Given the description of an element on the screen output the (x, y) to click on. 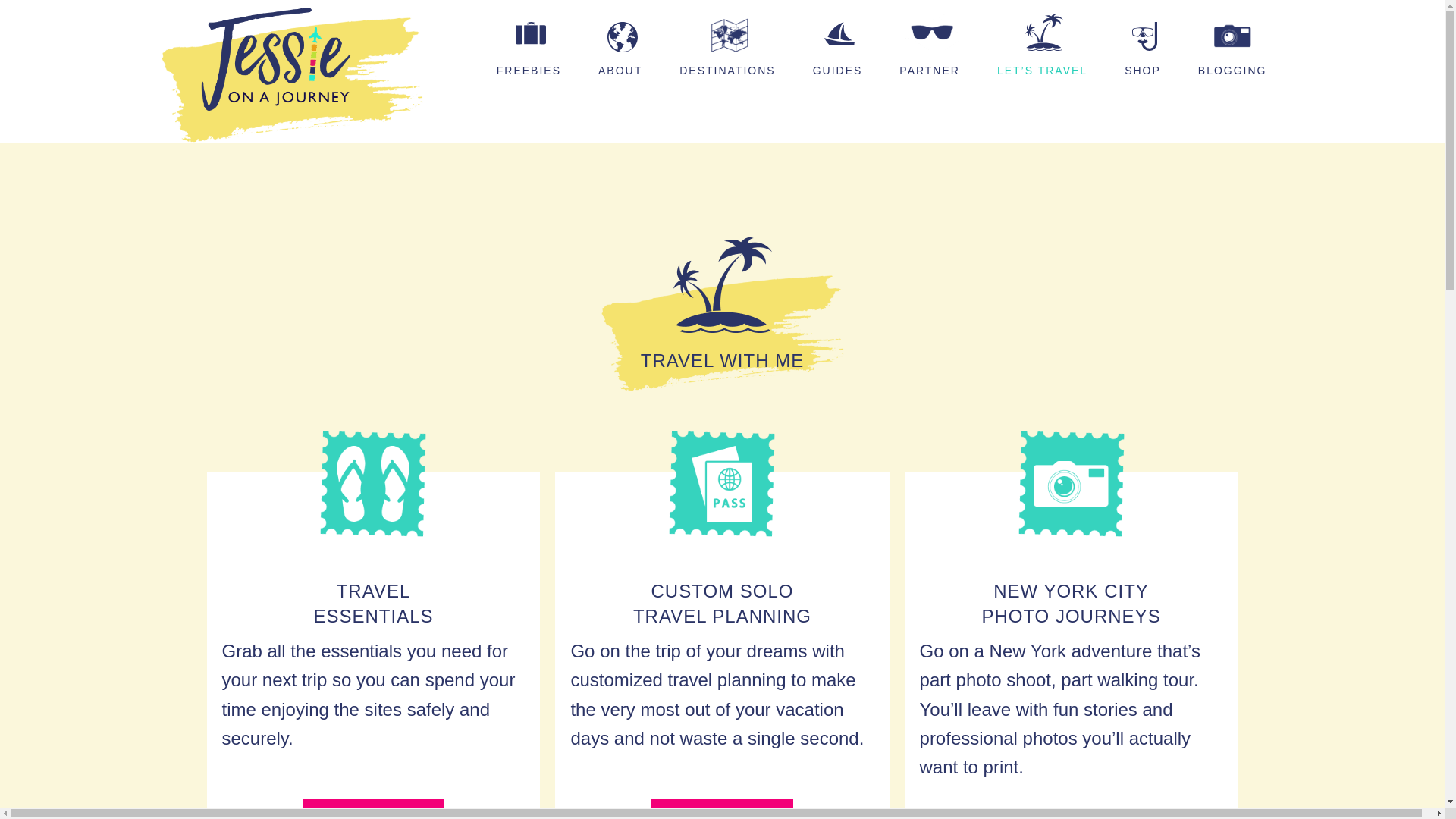
FREEBIES (530, 52)
camera-icon (1070, 483)
sandals-icon (372, 483)
ABOUT (621, 52)
GUIDES (839, 52)
passport-icon (722, 483)
DESTINATIONS (728, 52)
